Given the description of an element on the screen output the (x, y) to click on. 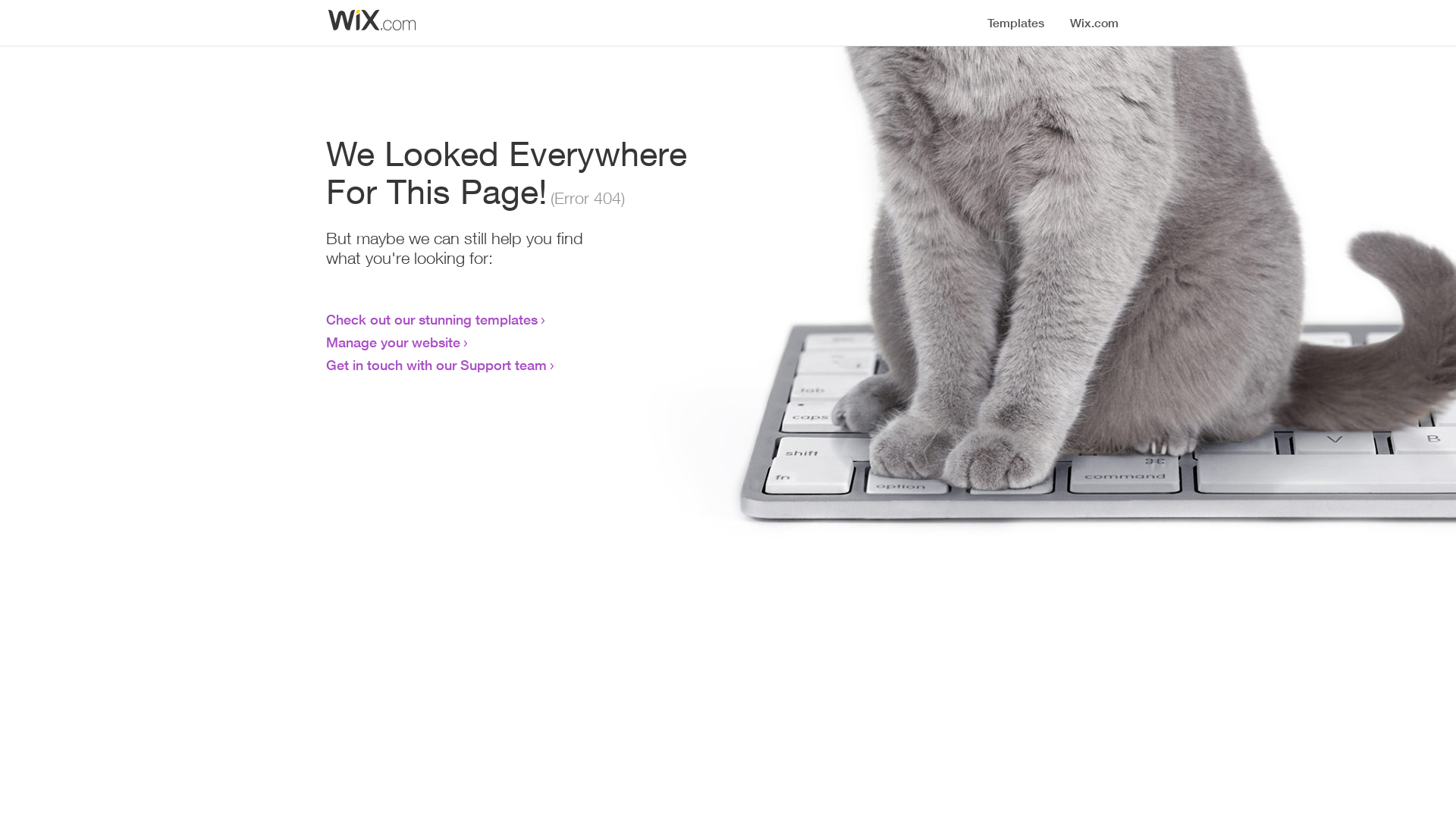
Get in touch with our Support team Element type: text (436, 364)
Manage your website Element type: text (393, 341)
Check out our stunning templates Element type: text (431, 318)
